Given the description of an element on the screen output the (x, y) to click on. 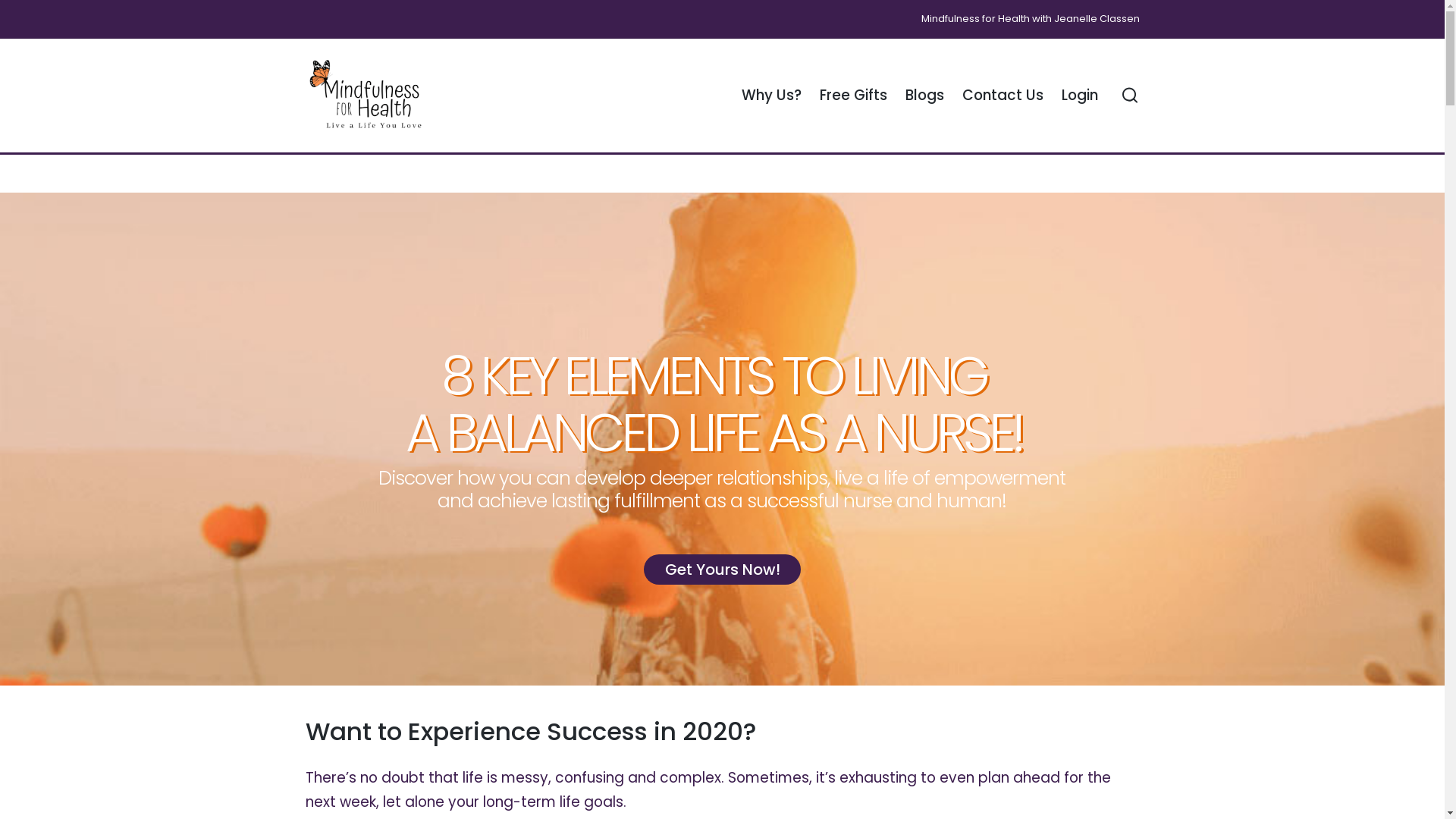
Contact Us Element type: text (1002, 95)
Why Us? Element type: text (771, 95)
Login Element type: text (1079, 95)
Blogs Element type: text (924, 95)
Free Gifts Element type: text (853, 95)
Get Yours Now! Element type: text (721, 569)
